Given the description of an element on the screen output the (x, y) to click on. 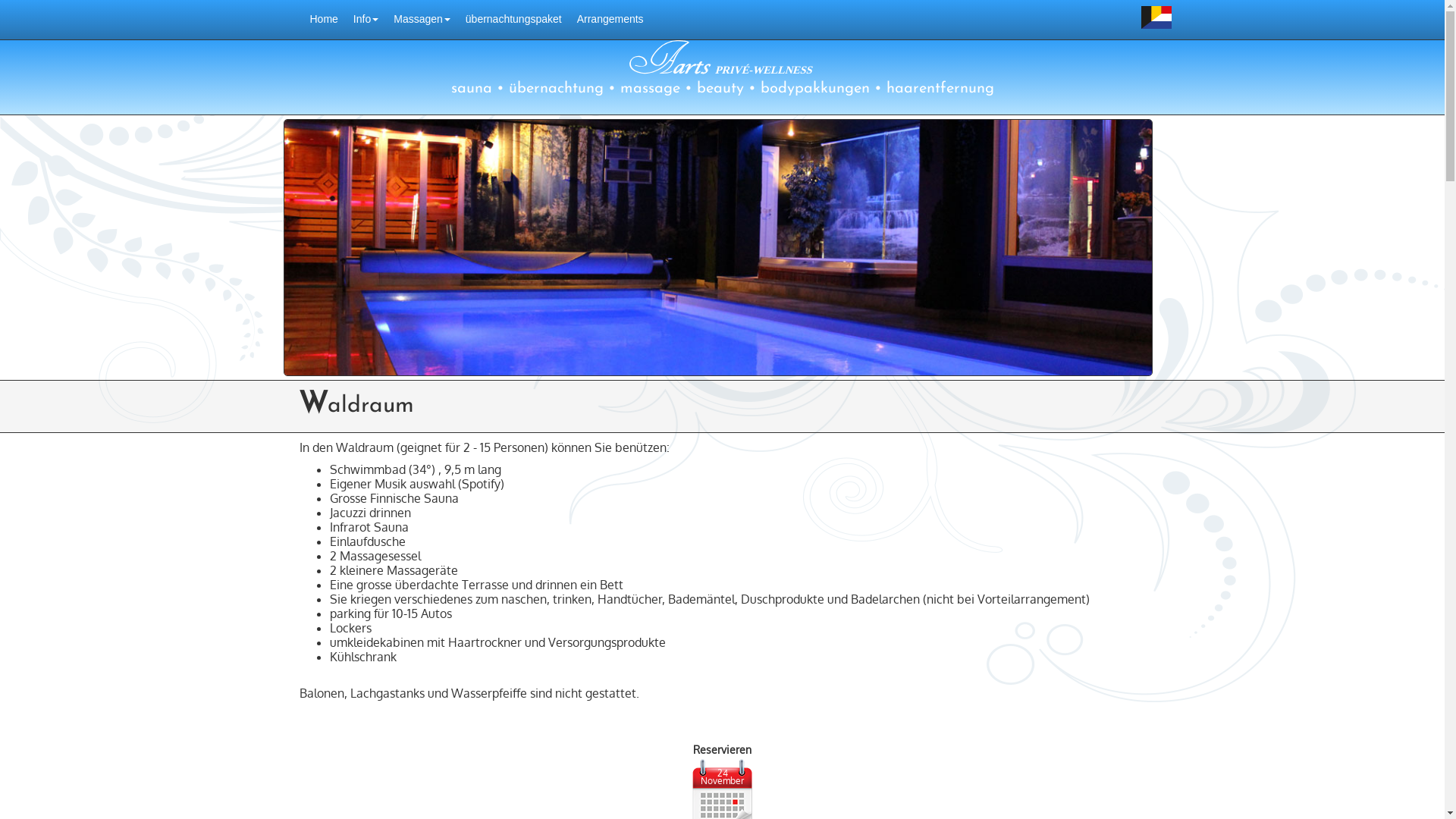
Home Element type: text (323, 20)
Massagen Element type: text (421, 20)
Info Element type: text (365, 20)
Nederlands Element type: hover (1155, 16)
Arrangements Element type: text (610, 20)
